Given the description of an element on the screen output the (x, y) to click on. 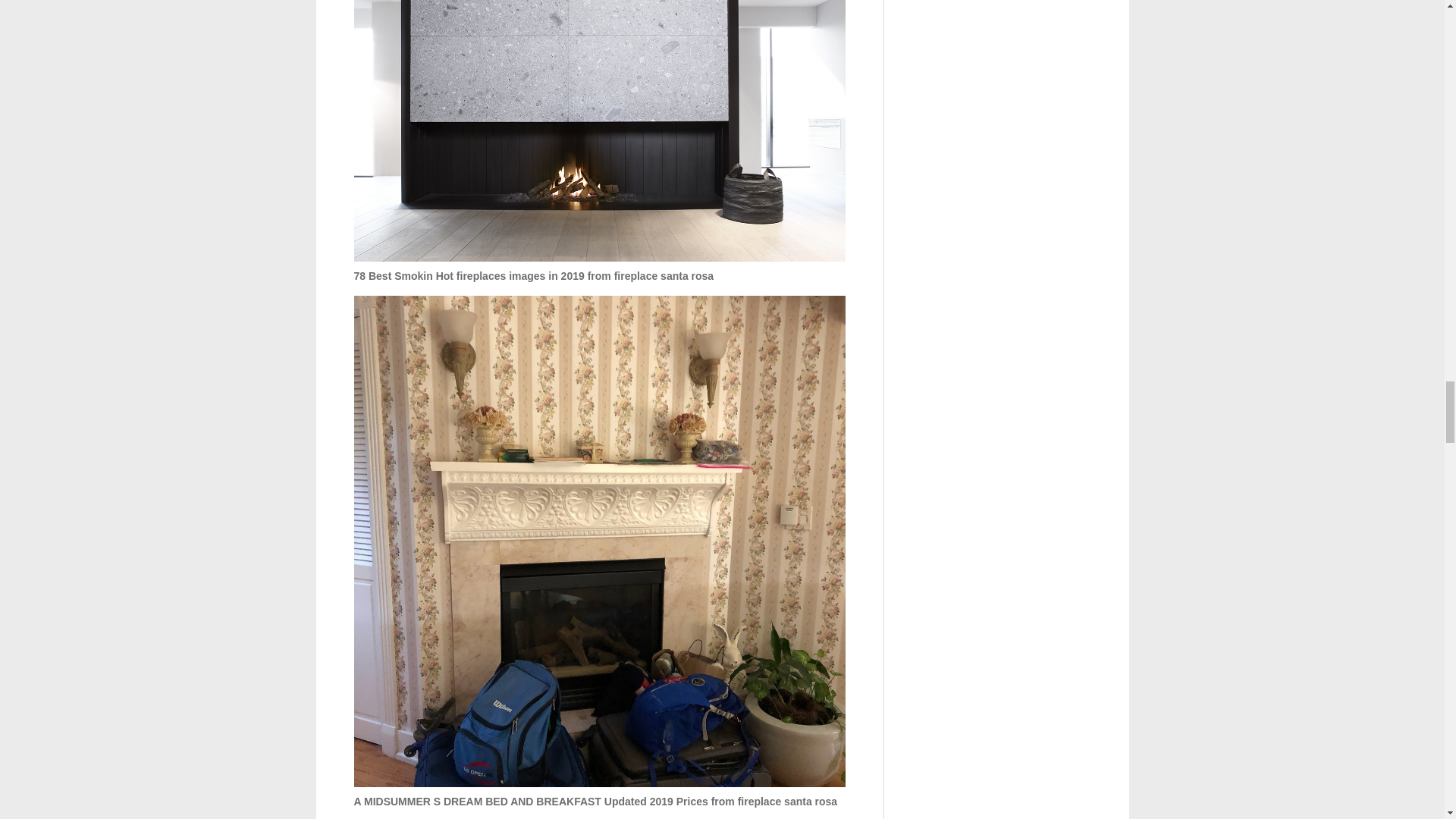
78 Best Smokin Hot fireplaces images in 2019 (598, 130)
